Given the description of an element on the screen output the (x, y) to click on. 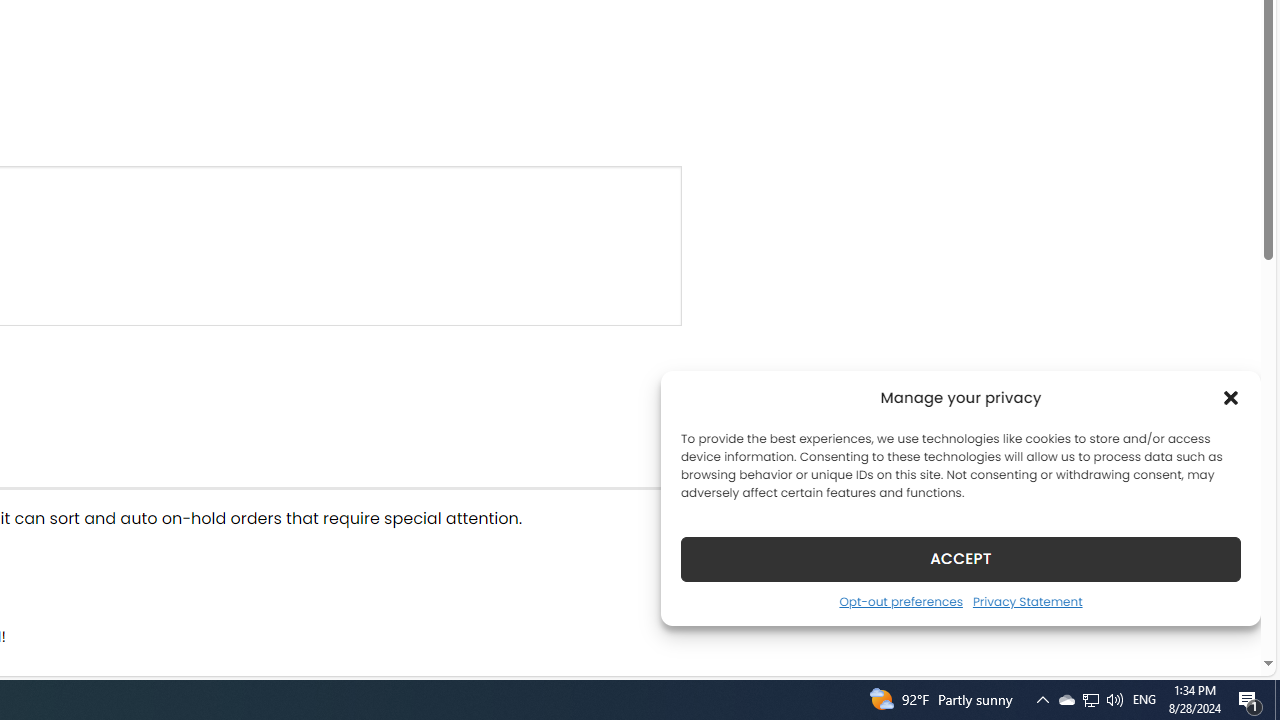
ACCEPT (960, 558)
Class: cmplz-close (1231, 397)
Opt-out preferences (900, 601)
Privacy Statement (1026, 601)
